Given the description of an element on the screen output the (x, y) to click on. 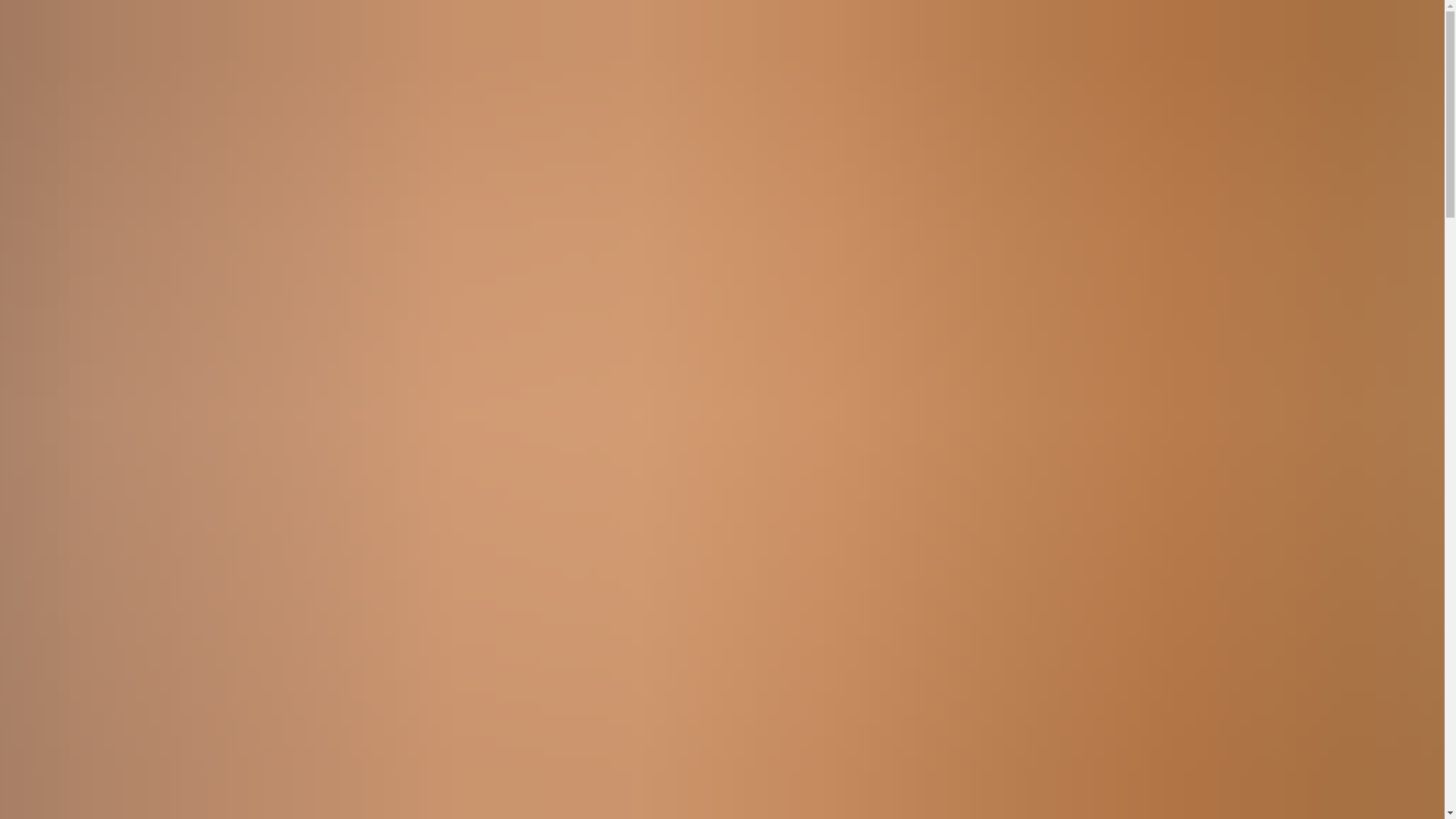
Pitti Palace (122, 149)
The Uffizi (119, 122)
Donors (58, 323)
Corridoio Vasariano (165, 135)
Pitti Palace (63, 377)
Le Gallerie degli Uffizi (24, 225)
Artworks (68, 97)
Home (58, 431)
Home (50, 349)
